Given the description of an element on the screen output the (x, y) to click on. 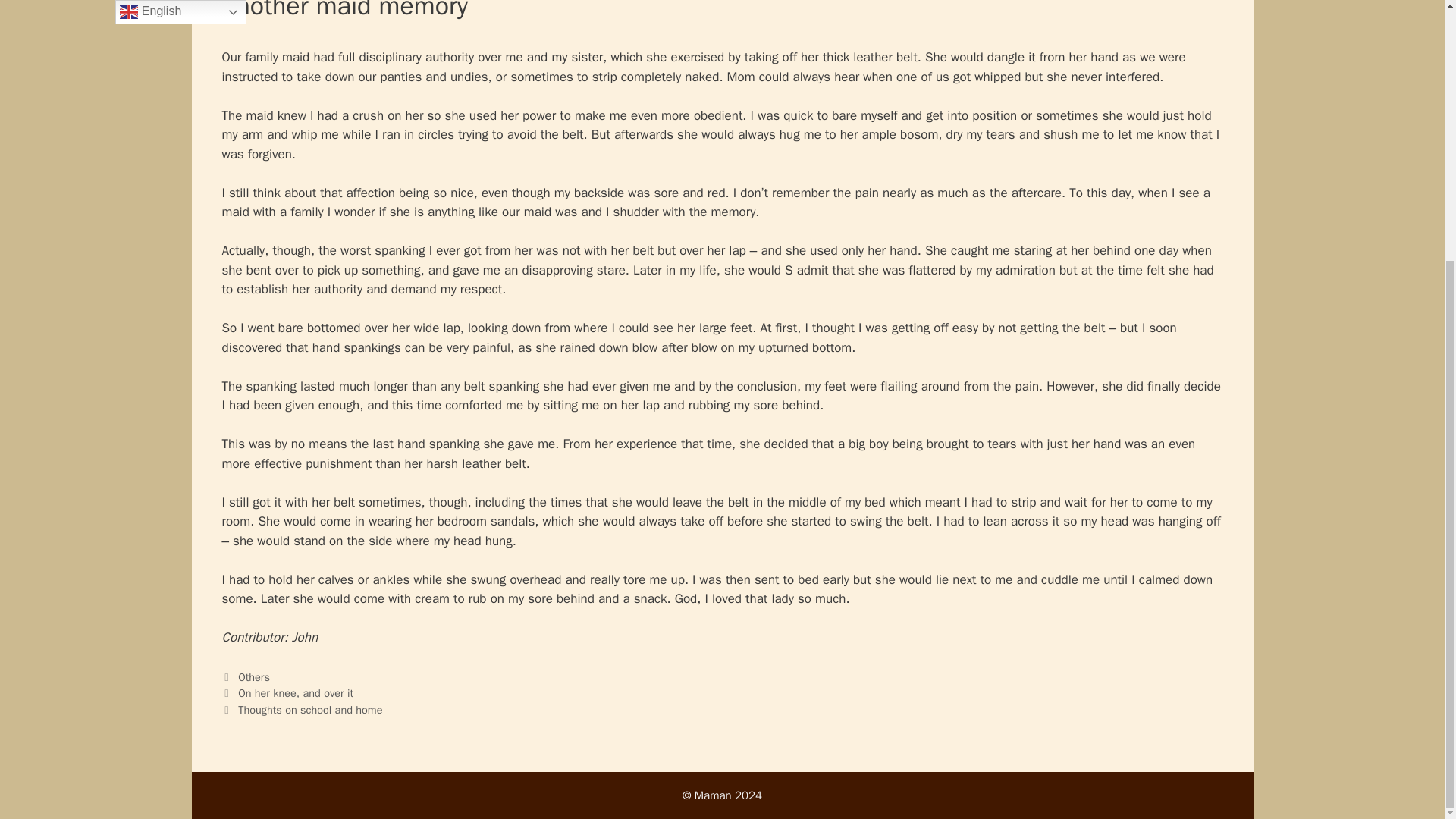
On her knee, and over it (295, 693)
Others (253, 676)
Thoughts on school and home (309, 709)
